Given the description of an element on the screen output the (x, y) to click on. 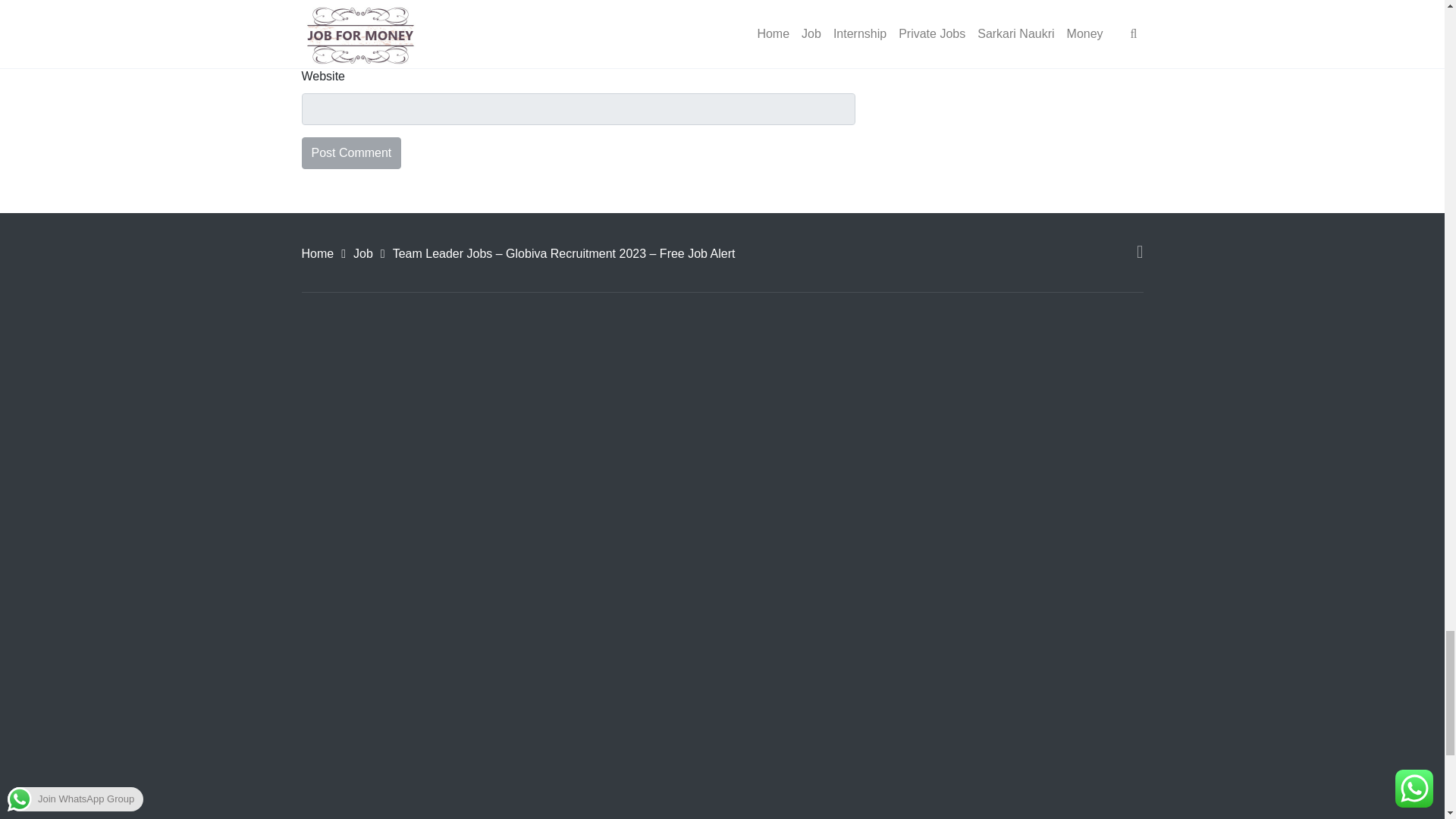
Post Comment (351, 152)
